Given the description of an element on the screen output the (x, y) to click on. 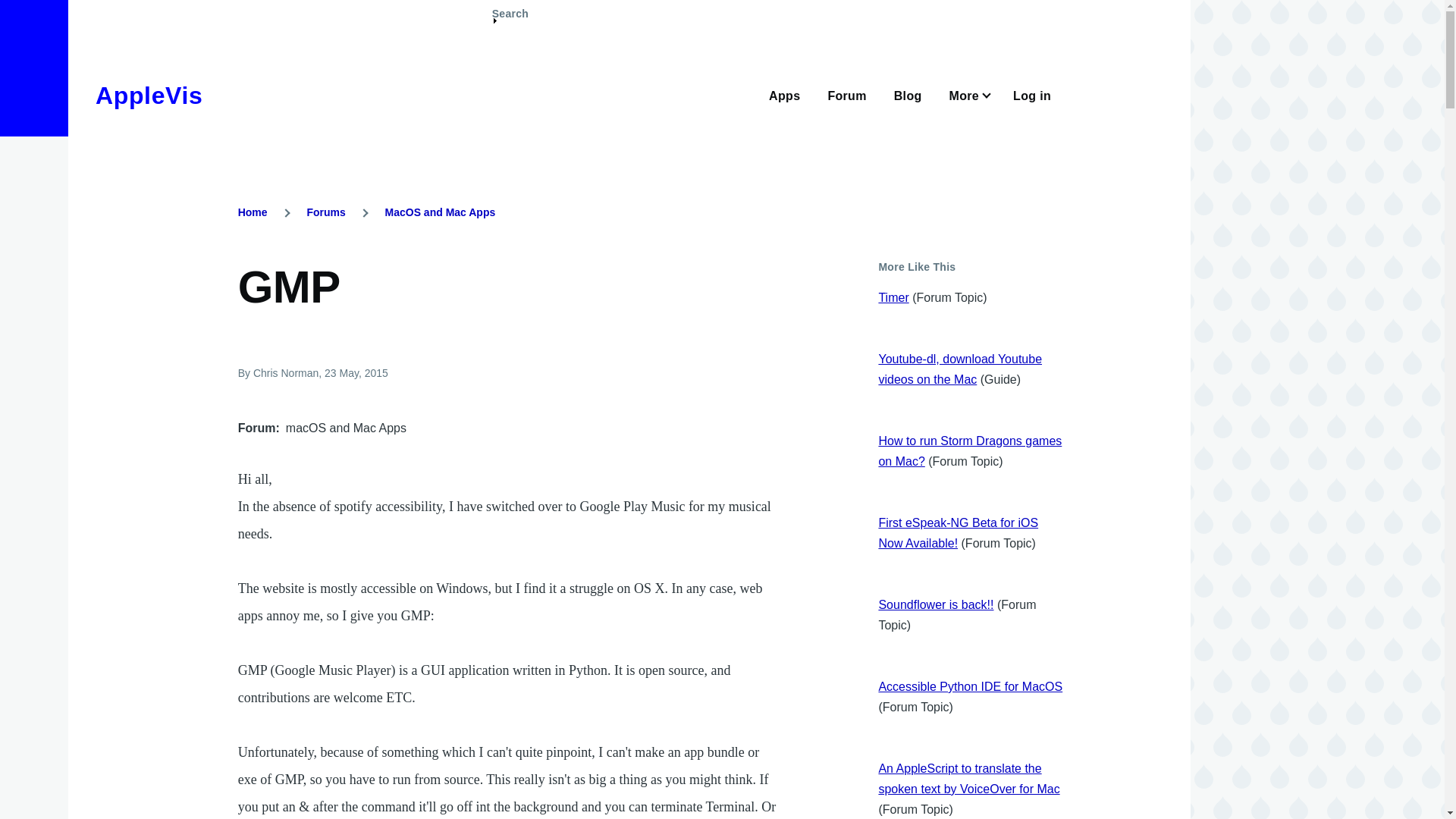
Search (510, 20)
Skip to main content (595, 6)
AppleVis (149, 94)
Home (252, 212)
Home (149, 94)
Forums (325, 212)
MacOS and Mac Apps (440, 212)
